Given the description of an element on the screen output the (x, y) to click on. 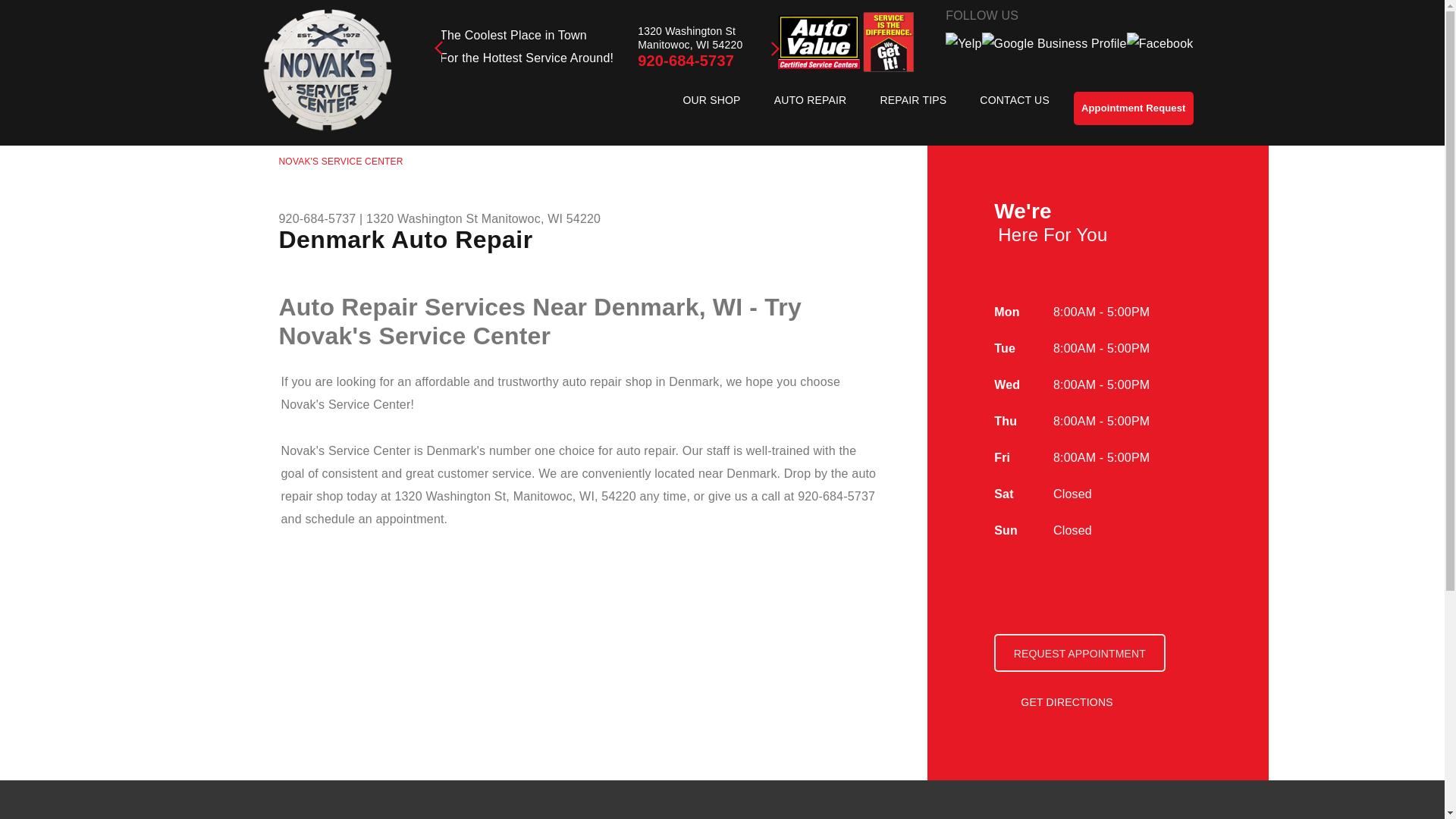
CONTACT US (1013, 100)
Appointment Request (1133, 108)
REPAIR TIPS (912, 100)
NOVAK'S SERVICE CENTER (341, 161)
AUTO REPAIR (810, 100)
OUR SHOP (711, 100)
920-684-5737 (685, 60)
